Given the description of an element on the screen output the (x, y) to click on. 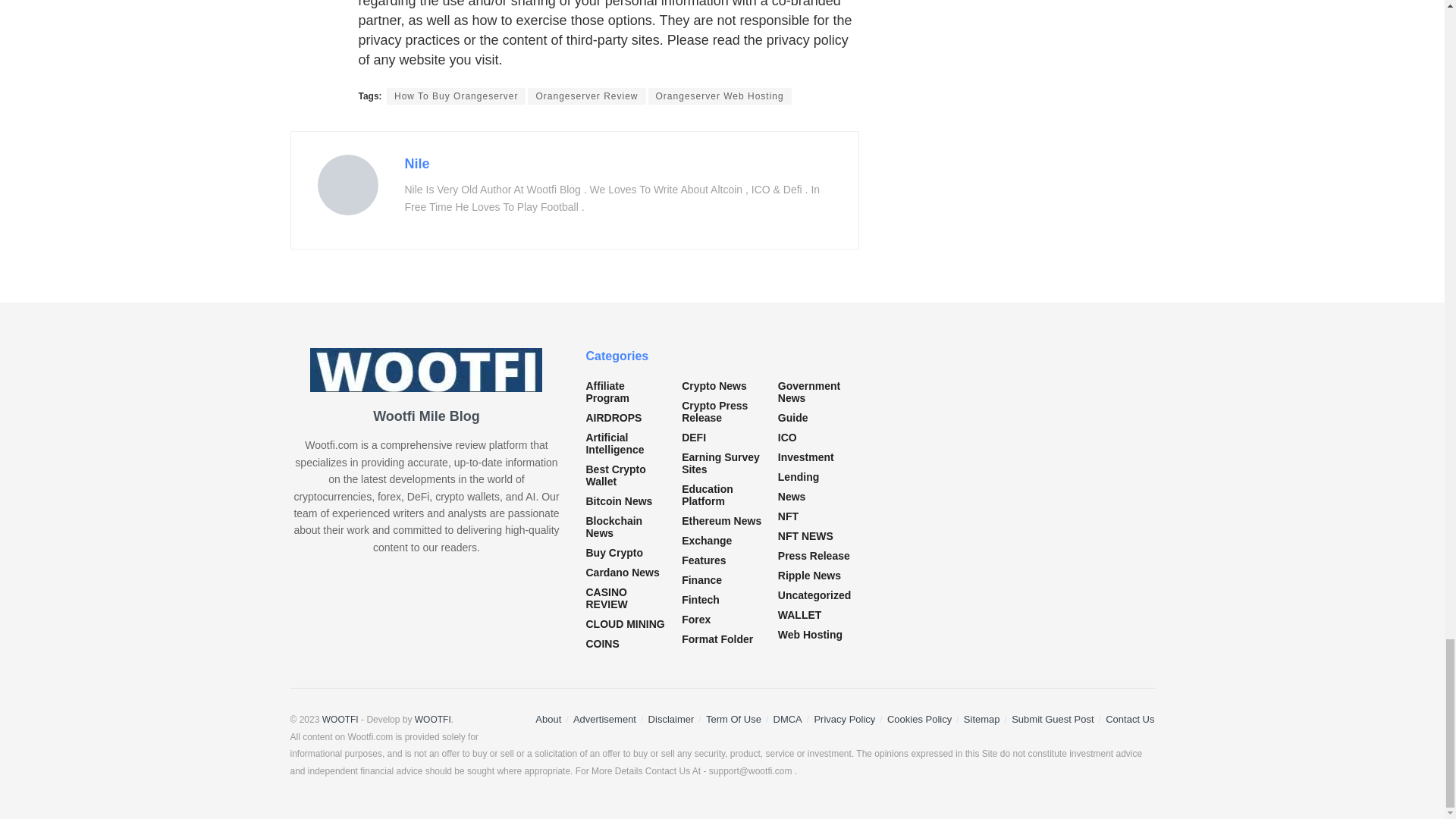
WOOTFI (432, 719)
WOOTFI NO1 CRYPTO BLOG  (339, 719)
